Given the description of an element on the screen output the (x, y) to click on. 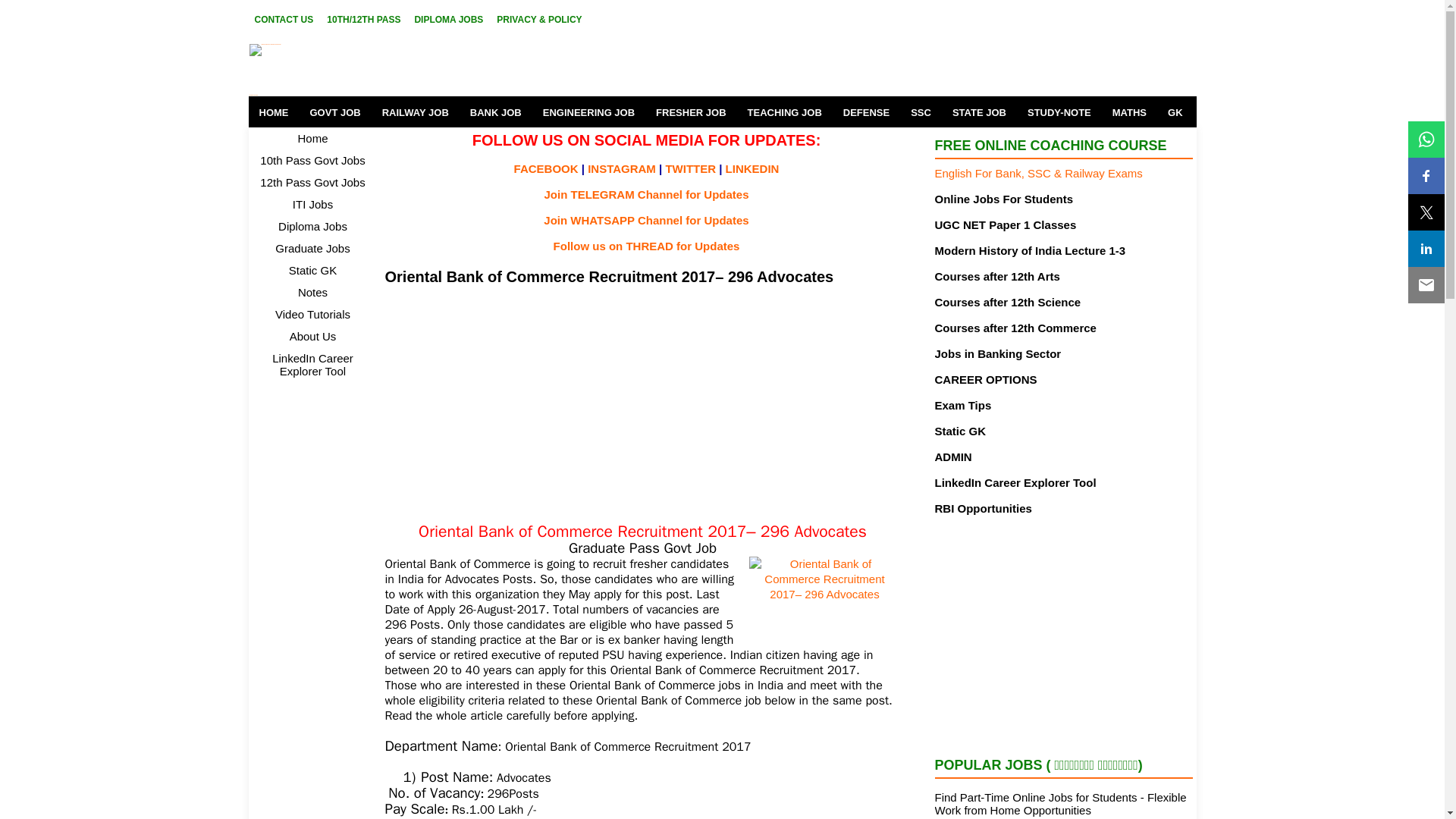
CONTACT US (284, 19)
Government Jobs in India (390, 69)
HOME (273, 111)
DEFENSE (865, 111)
BANK JOB (496, 111)
ENGINEERING JOB (588, 111)
GOVT JOB (334, 111)
STUDY-NOTE (1059, 111)
DIPLOMA JOBS (448, 19)
RAILWAY JOB (415, 111)
Advertisement (1063, 633)
STATE JOB (979, 111)
TEACHING JOB (784, 111)
FRESHER JOB (690, 111)
Advertisement (643, 402)
